Given the description of an element on the screen output the (x, y) to click on. 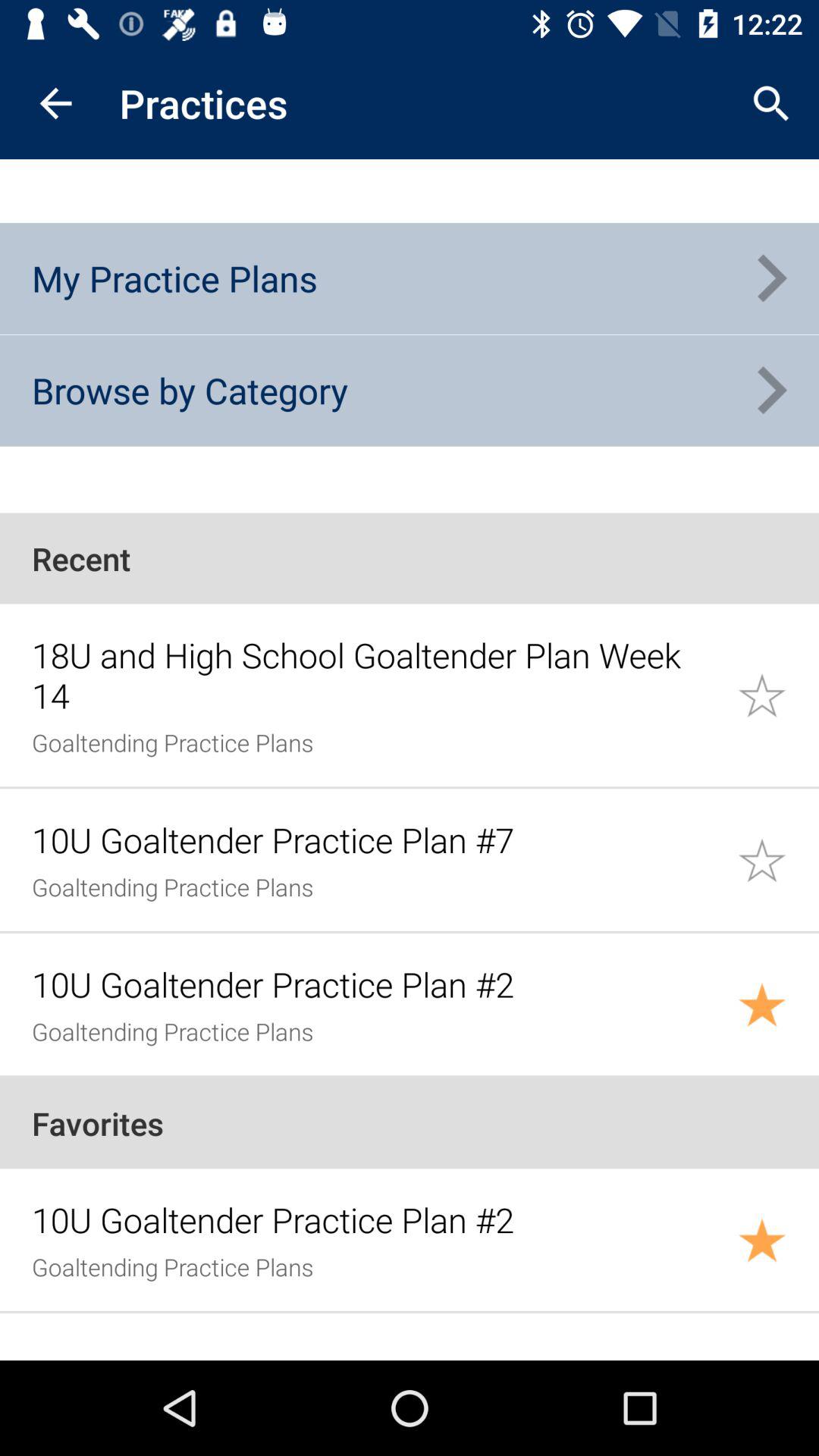
open icon next to practices (55, 103)
